Given the description of an element on the screen output the (x, y) to click on. 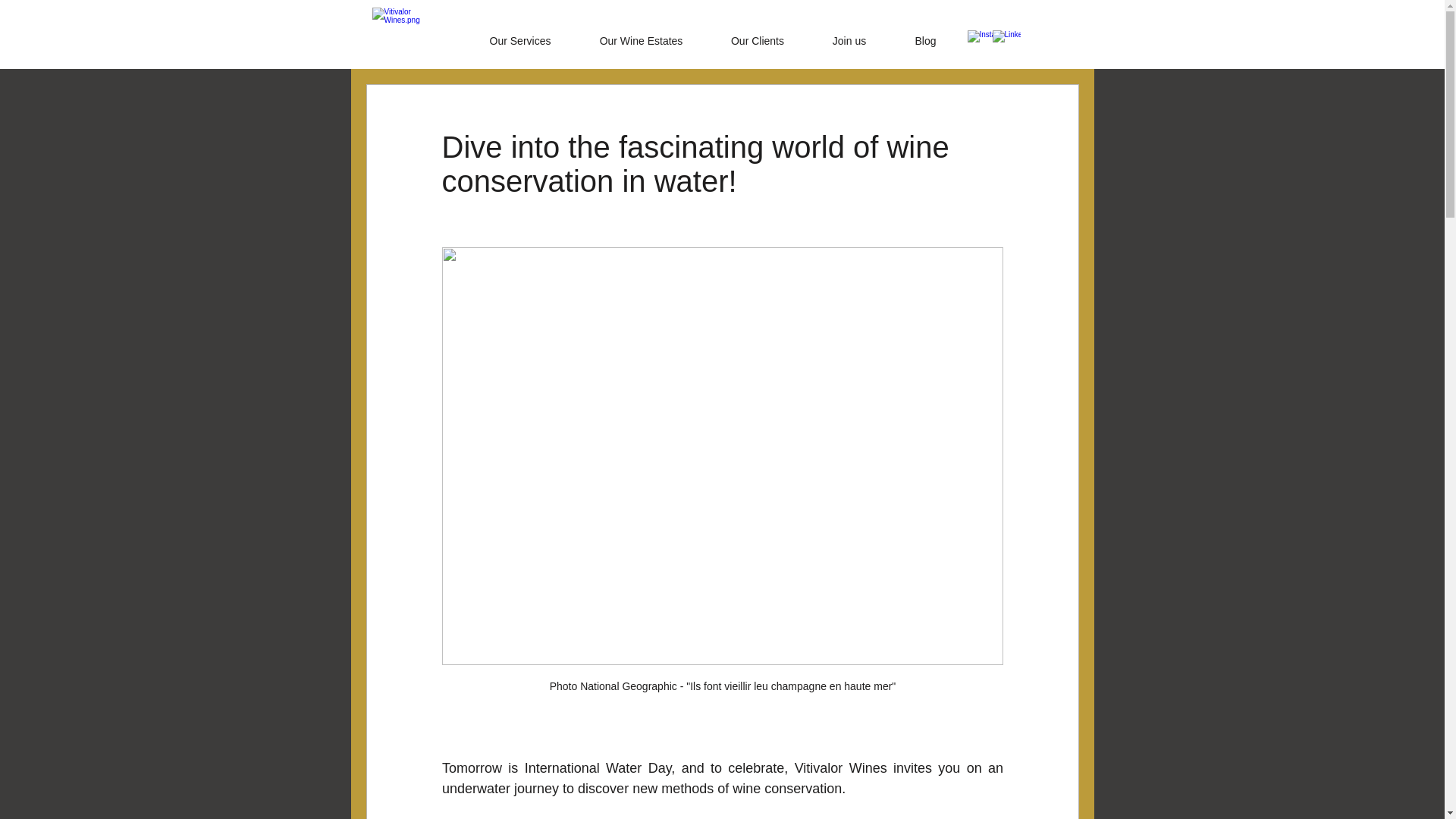
Our Services (519, 33)
Our Wine Estates (641, 33)
Our Clients (757, 33)
Join us (848, 33)
Blog (924, 33)
